Given the description of an element on the screen output the (x, y) to click on. 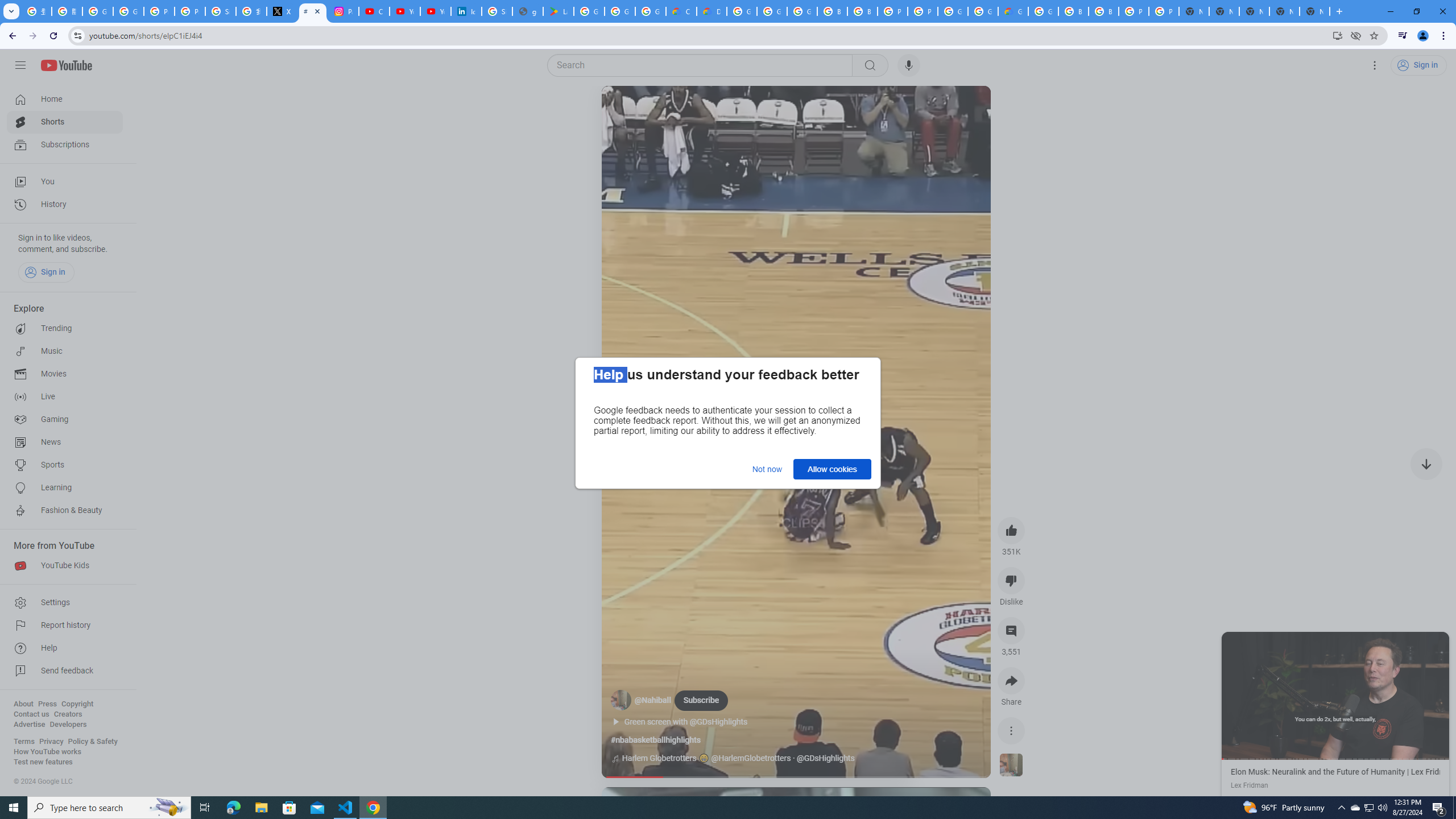
Browse Chrome as a guest - Computer - Google Chrome Help (832, 11)
Expand (i) (1232, 643)
Developers (68, 724)
Music (64, 350)
Customer Care | Google Cloud (681, 11)
New Tab (1314, 11)
Google Cloud Platform (1042, 11)
Green screen with @GDsHighlights (692, 722)
